Given the description of an element on the screen output the (x, y) to click on. 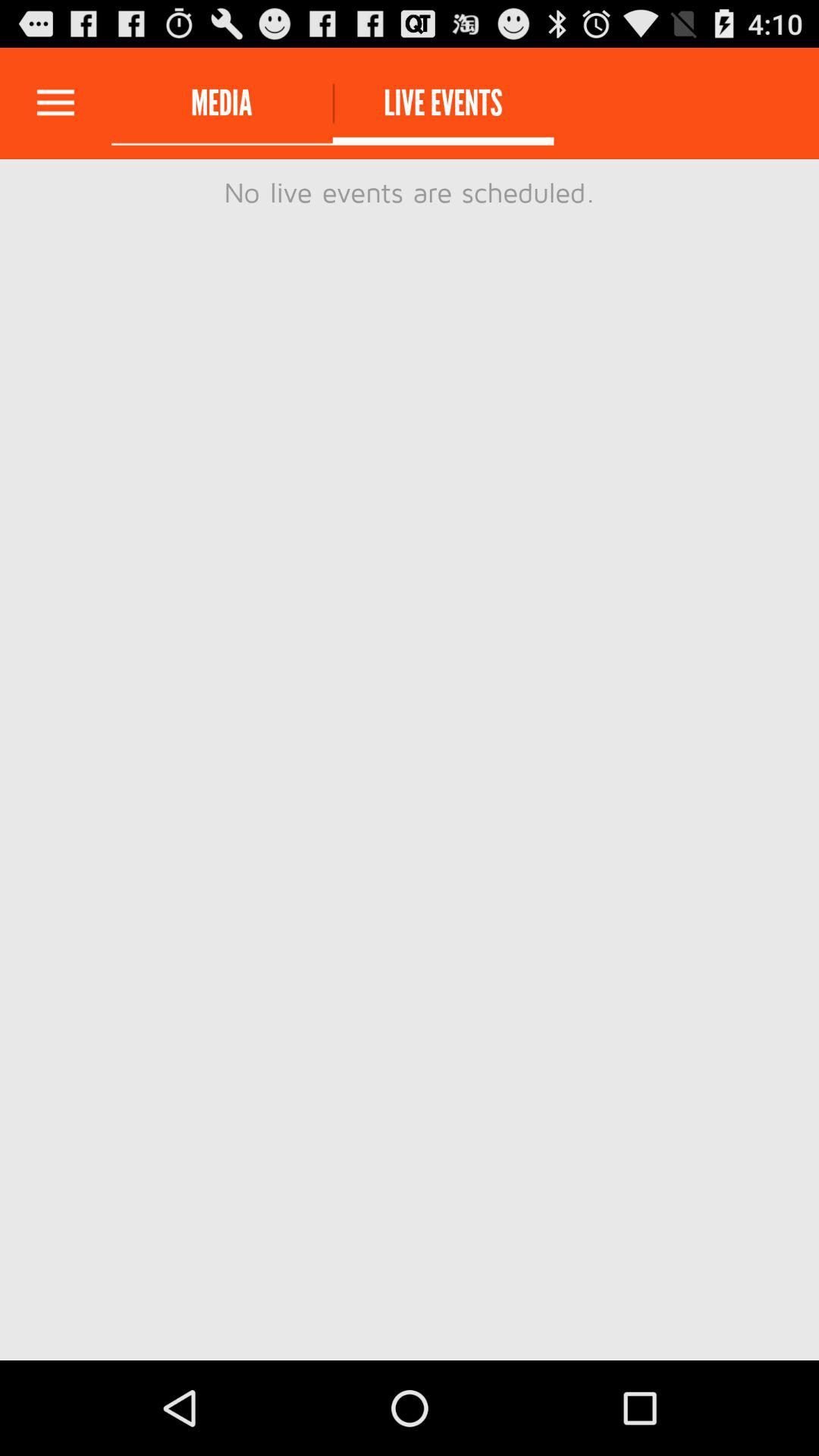
more options (55, 103)
